Given the description of an element on the screen output the (x, y) to click on. 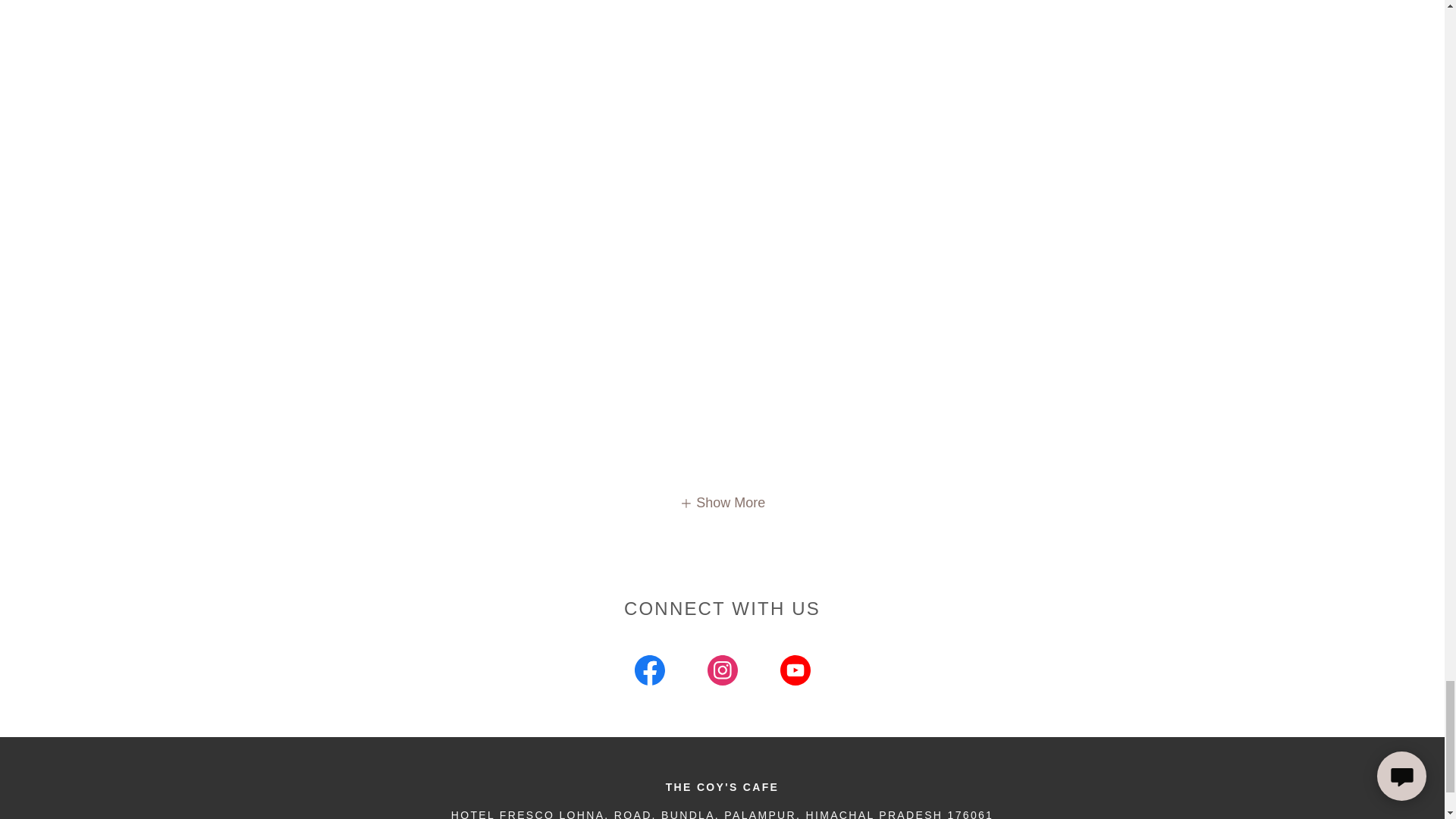
Show More (722, 502)
